Given the description of an element on the screen output the (x, y) to click on. 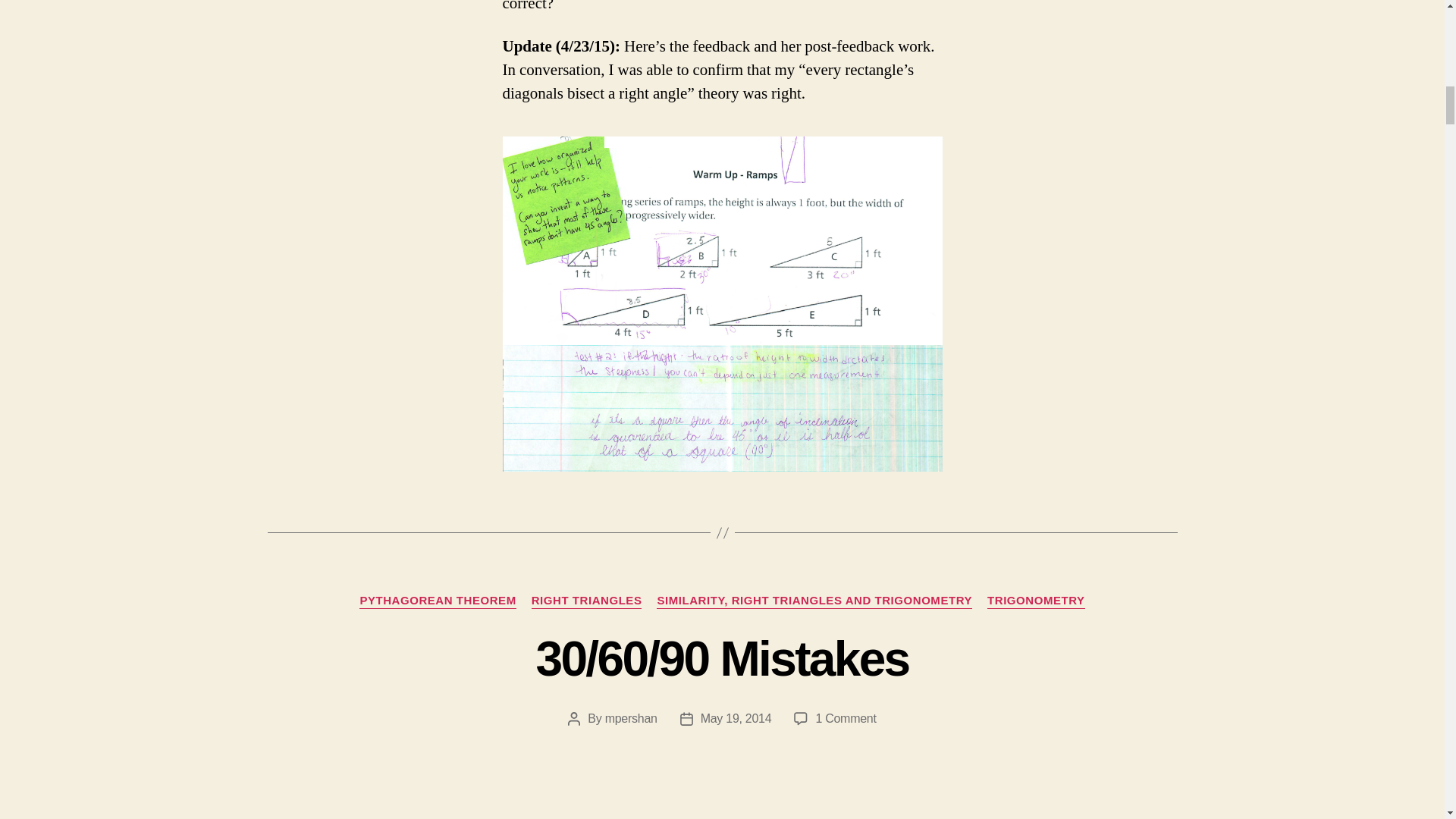
TRIGONOMETRY (1035, 601)
May 19, 2014 (735, 717)
mpershan (631, 717)
SIMILARITY, RIGHT TRIANGLES AND TRIGONOMETRY (814, 601)
PYTHAGOREAN THEOREM (437, 601)
RIGHT TRIANGLES (586, 601)
